Given the description of an element on the screen output the (x, y) to click on. 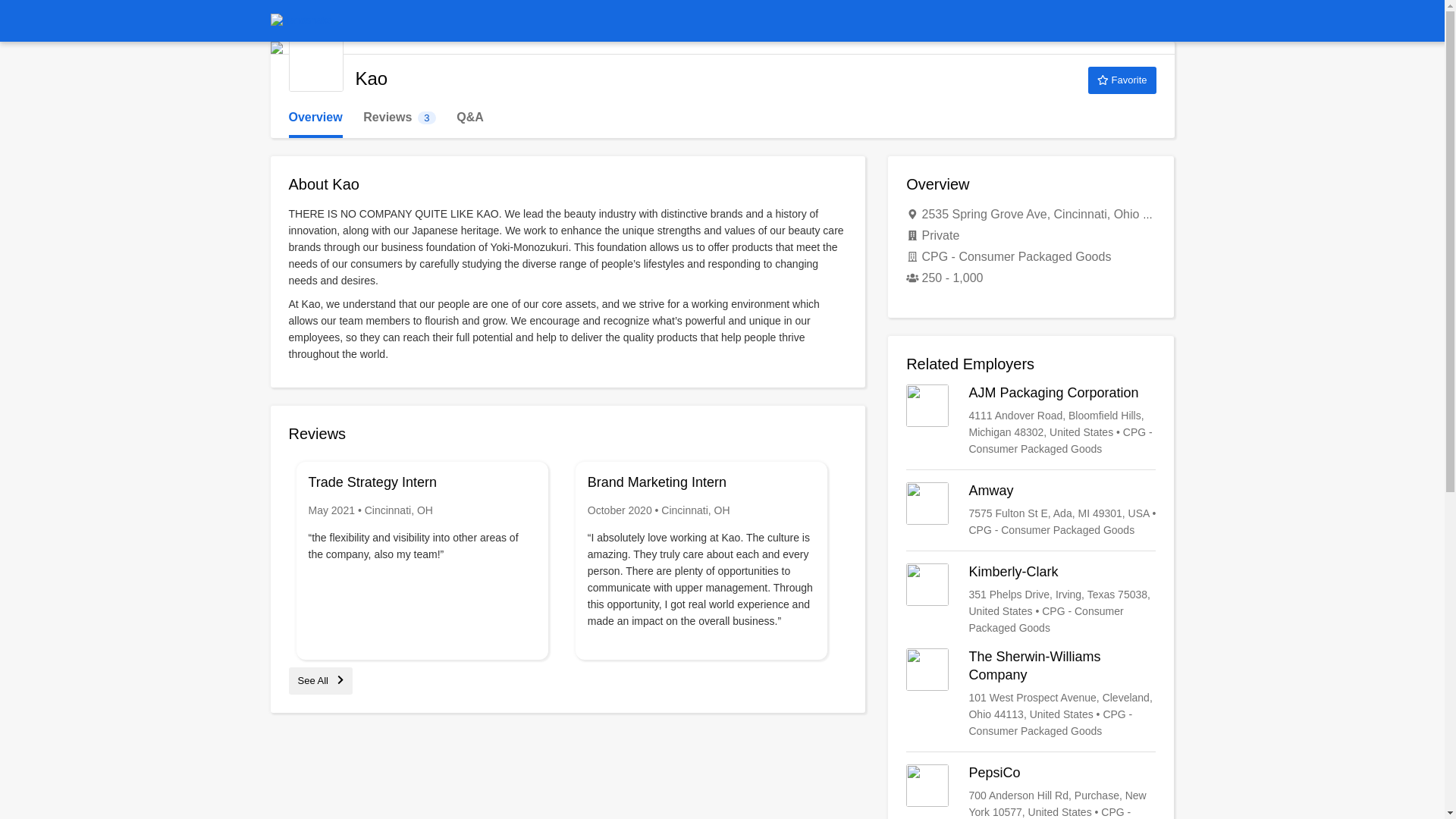
Kao (315, 63)
Amway (1030, 510)
AJM Packaging Corporation (1030, 420)
PepsiCo (1030, 791)
The Sherwin-Williams Company (1030, 693)
Overview (315, 117)
See All (320, 680)
Favorite (398, 117)
Kimberly-Clark (1121, 80)
